Given the description of an element on the screen output the (x, y) to click on. 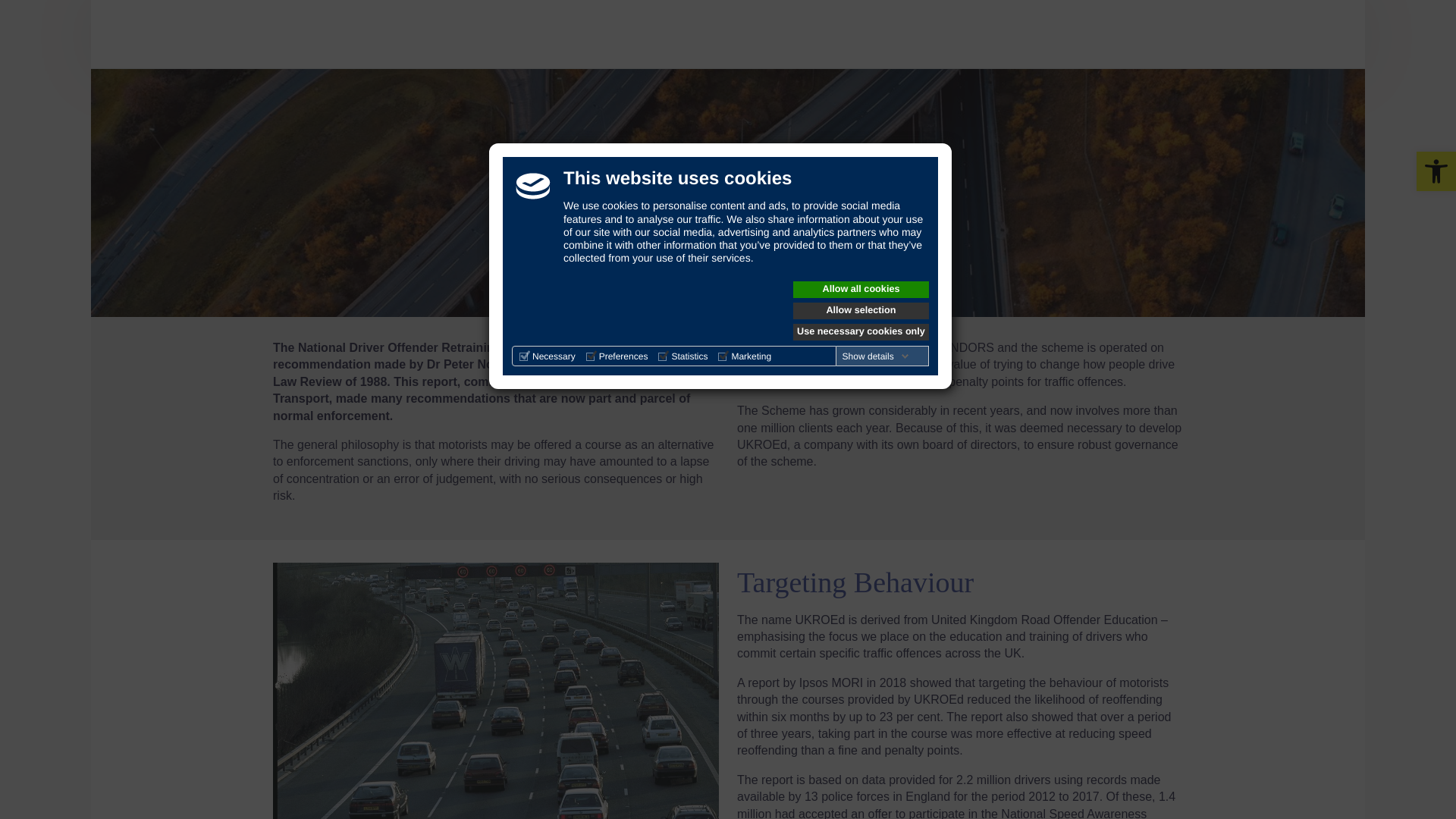
Allow all cookies (860, 289)
Allow selection (860, 310)
Show details (876, 356)
Use necessary cookies only (860, 331)
Accessibility Tools (1435, 170)
